Given the description of an element on the screen output the (x, y) to click on. 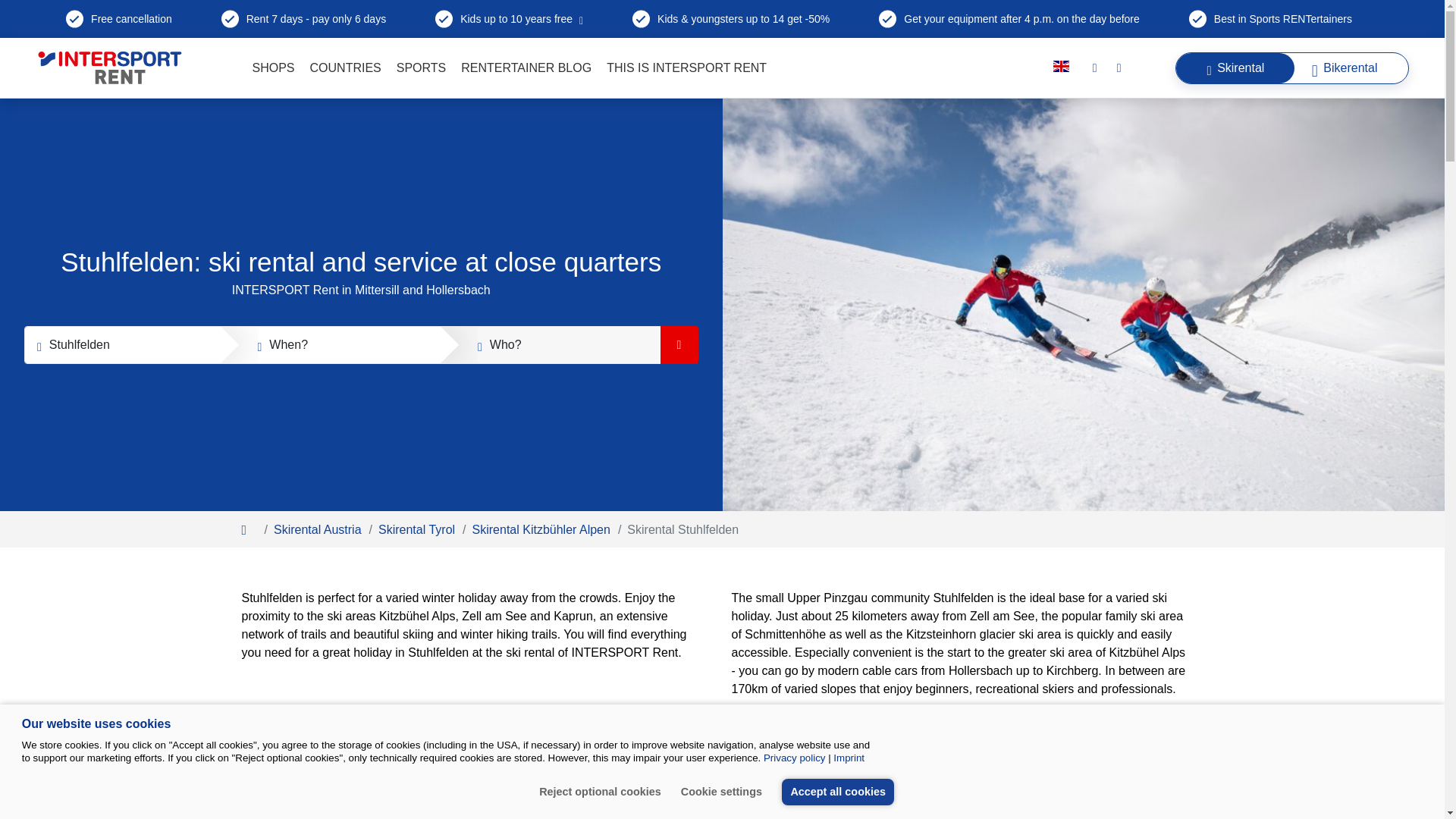
Imprint (846, 757)
Imprint (846, 757)
Cookie settings (726, 791)
Privacy policy (793, 757)
COUNTRIES (345, 67)
Privacy policy (793, 757)
Accept all cookies (838, 791)
SPORTS (421, 67)
Reject optional cookies (603, 791)
SHOPS (272, 67)
